Given the description of an element on the screen output the (x, y) to click on. 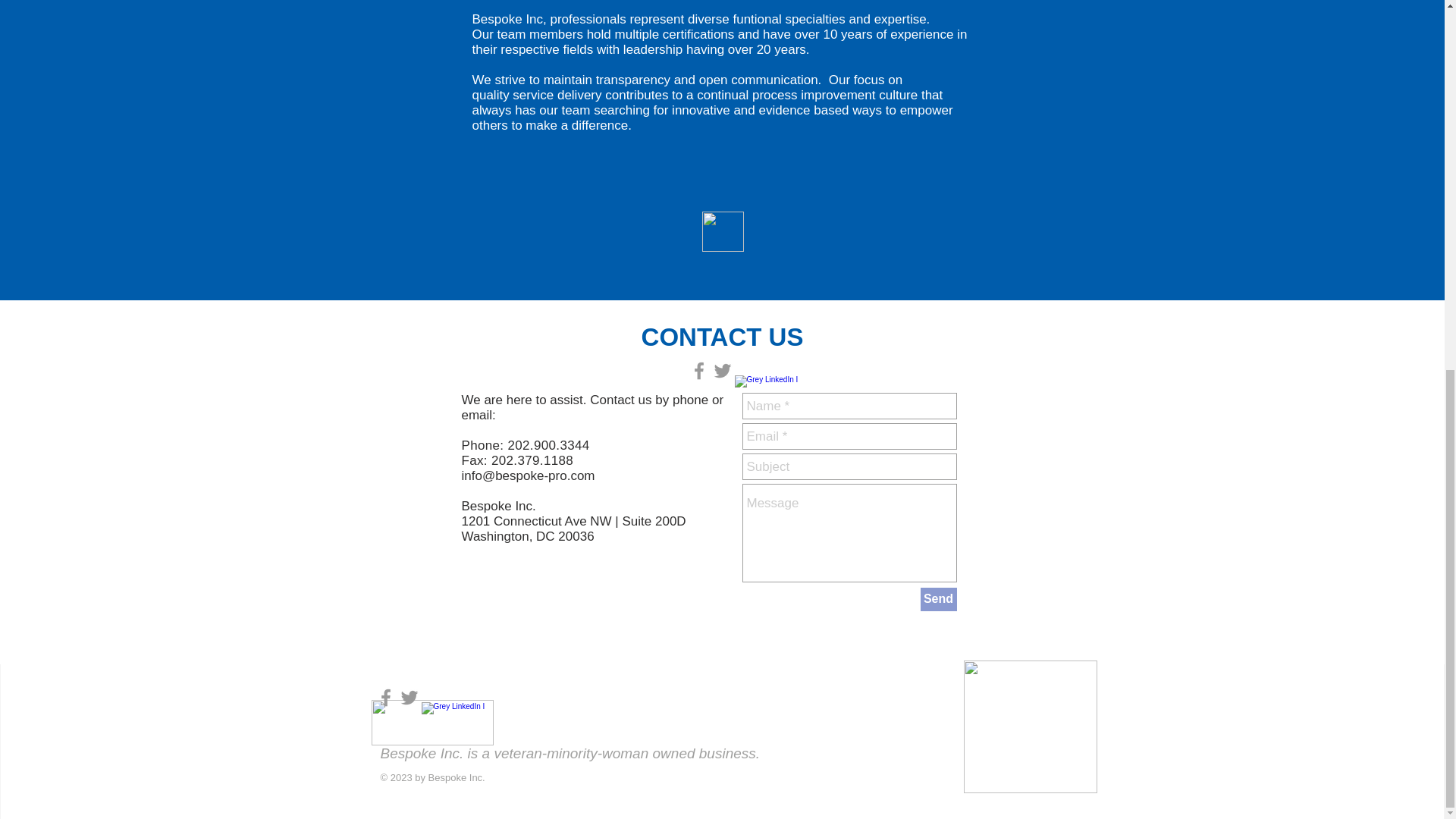
Bespoke-logo-notag-02.png (432, 722)
Send (938, 599)
